Given the description of an element on the screen output the (x, y) to click on. 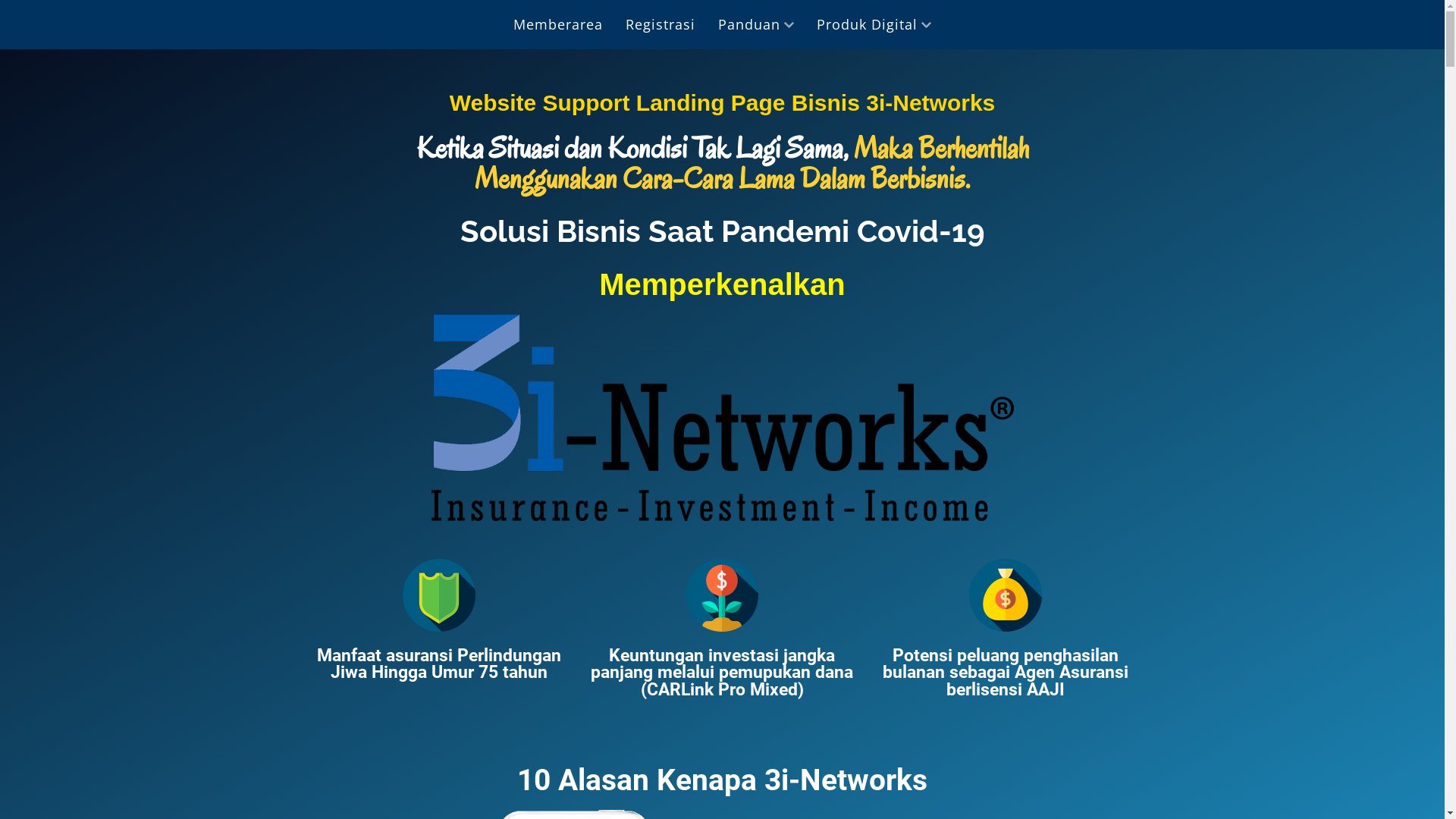
Memberarea Element type: text (558, 24)
3i-Networks Peluang Usaha Bisnis Online 3i Networks 1 Element type: hover (438, 594)
3i-Networks Peluang Usaha Bisnis Online 3i Networks 3 Element type: hover (1005, 594)
Registrasi Element type: text (660, 24)
Panduan Element type: text (755, 24)
3i-Networks Peluang Usaha Bisnis Online 3i Networks 2 Element type: hover (721, 594)
3inetworks-images-1.png Element type: hover (721, 416)
Produk Digital Element type: text (873, 24)
